Given the description of an element on the screen output the (x, y) to click on. 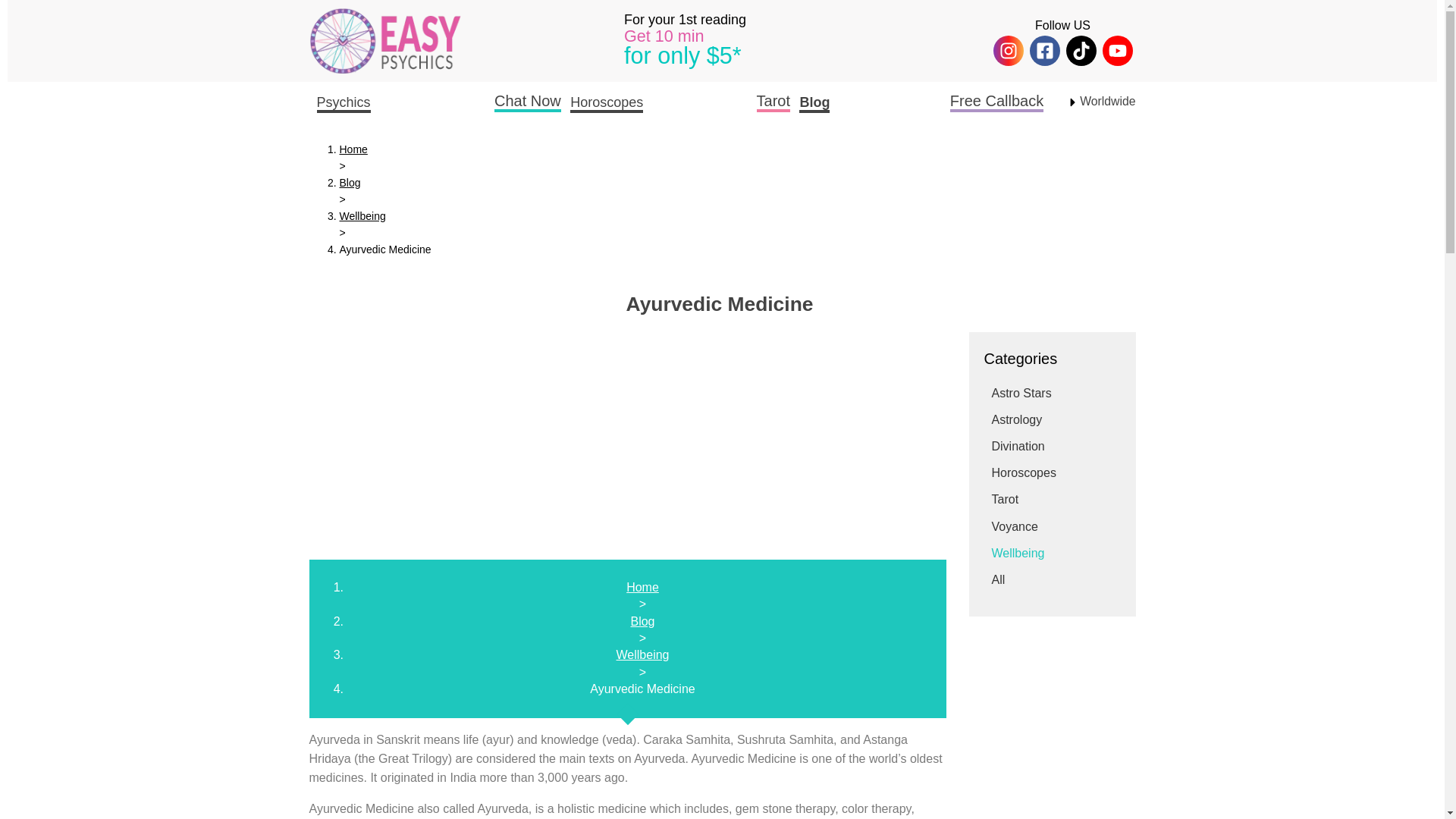
all categories (998, 579)
Divination (1018, 445)
Astrology (1016, 419)
Tarot (1005, 499)
Wellbeing (1018, 553)
Horoscopes (1024, 472)
Astro Stars (1021, 392)
Chat Now (527, 100)
Voyance (1014, 526)
